Given the description of an element on the screen output the (x, y) to click on. 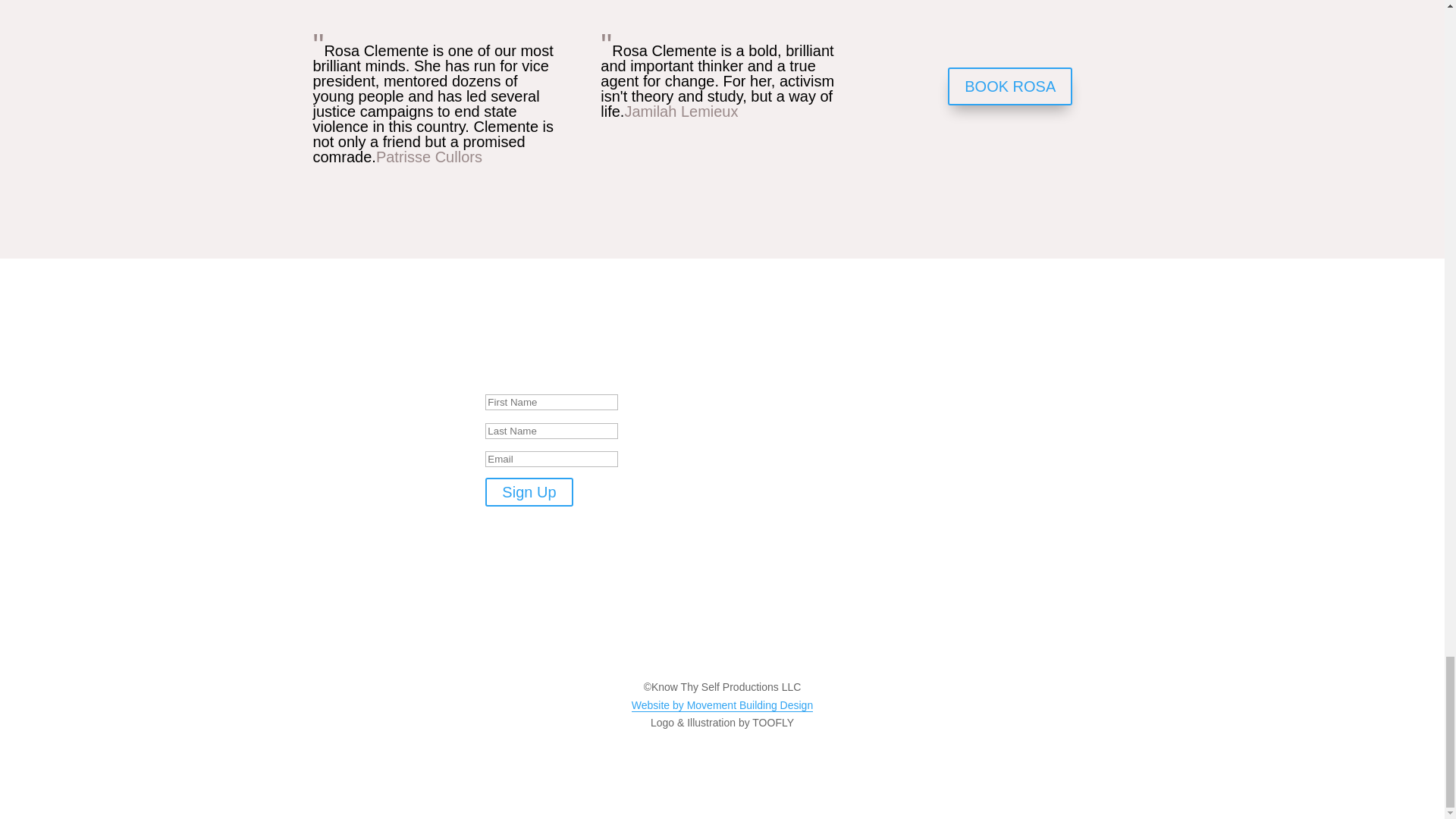
Website by Movement Building Design (721, 705)
Sign Up (528, 491)
BOOK ROSA (1009, 86)
